Given the description of an element on the screen output the (x, y) to click on. 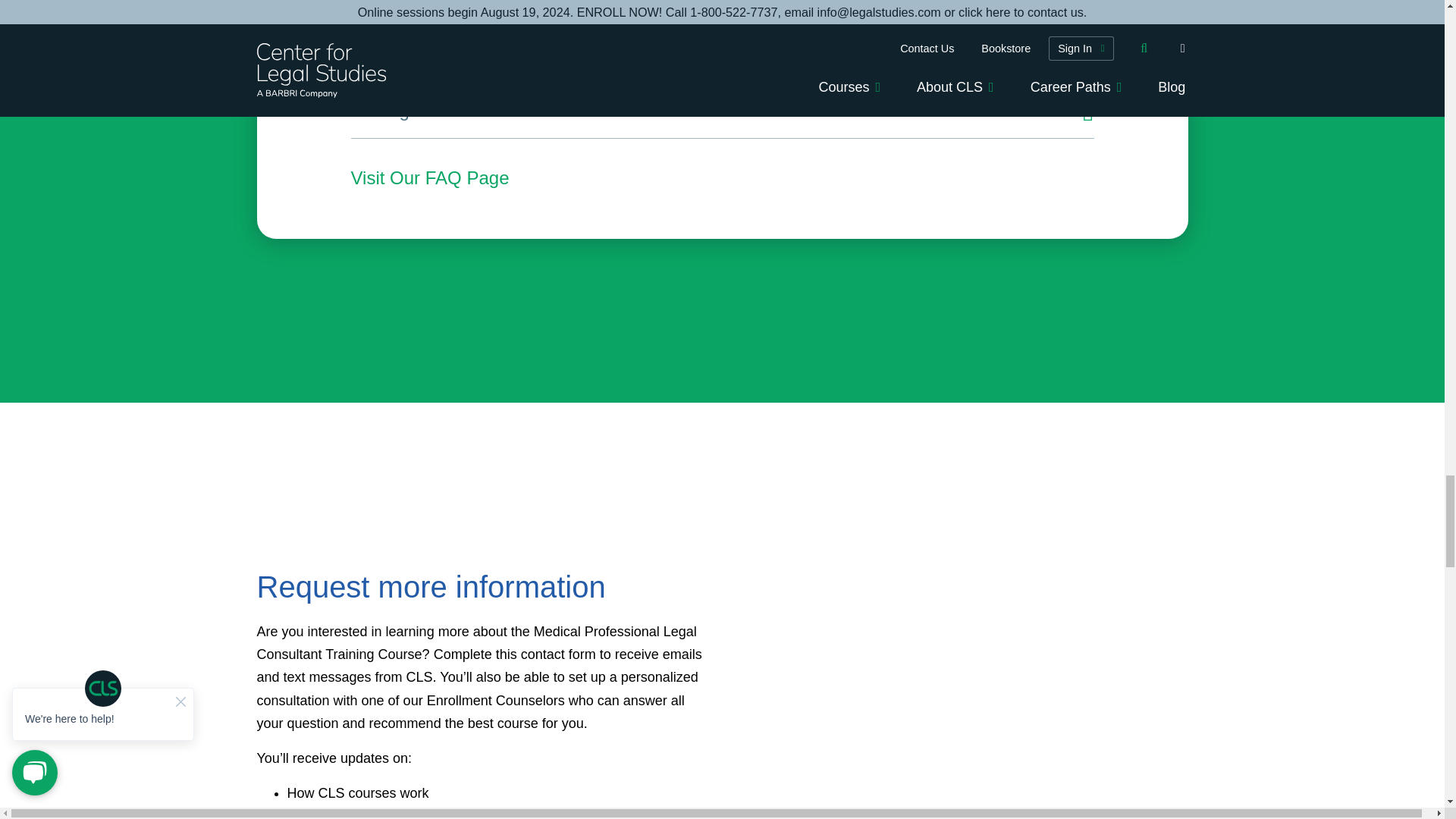
Form 0 (961, 692)
